Given the description of an element on the screen output the (x, y) to click on. 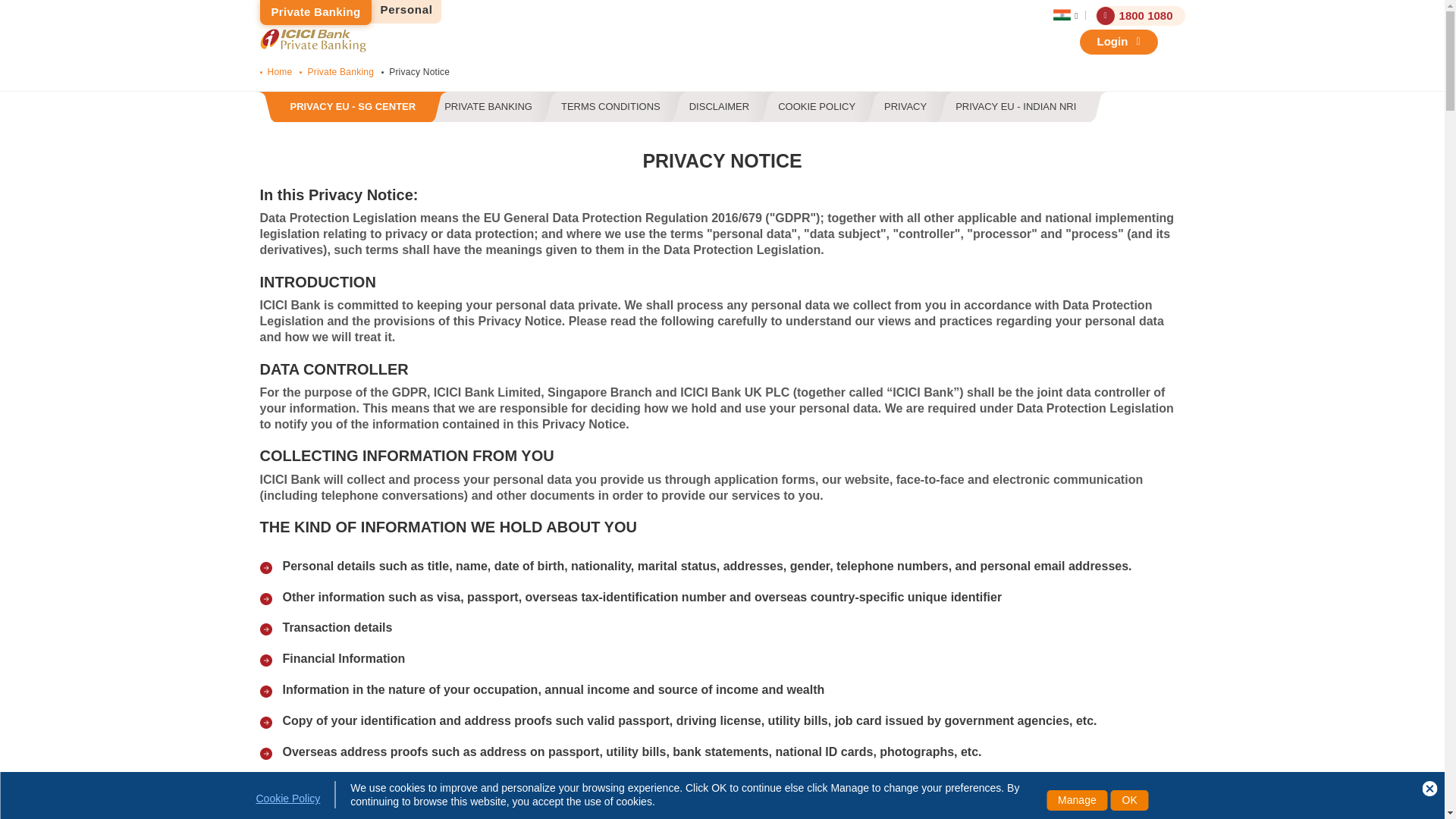
DISCLAIMER (719, 106)
Private Banking (340, 71)
Privacy Notice (418, 71)
PRIVACY EU - SG CENTER (352, 106)
Home (279, 71)
Login (1118, 41)
TERMS CONDITIONS (610, 106)
Personal (406, 9)
COOKIE POLICY (816, 106)
PRIVATE BANKING (488, 106)
